Given the description of an element on the screen output the (x, y) to click on. 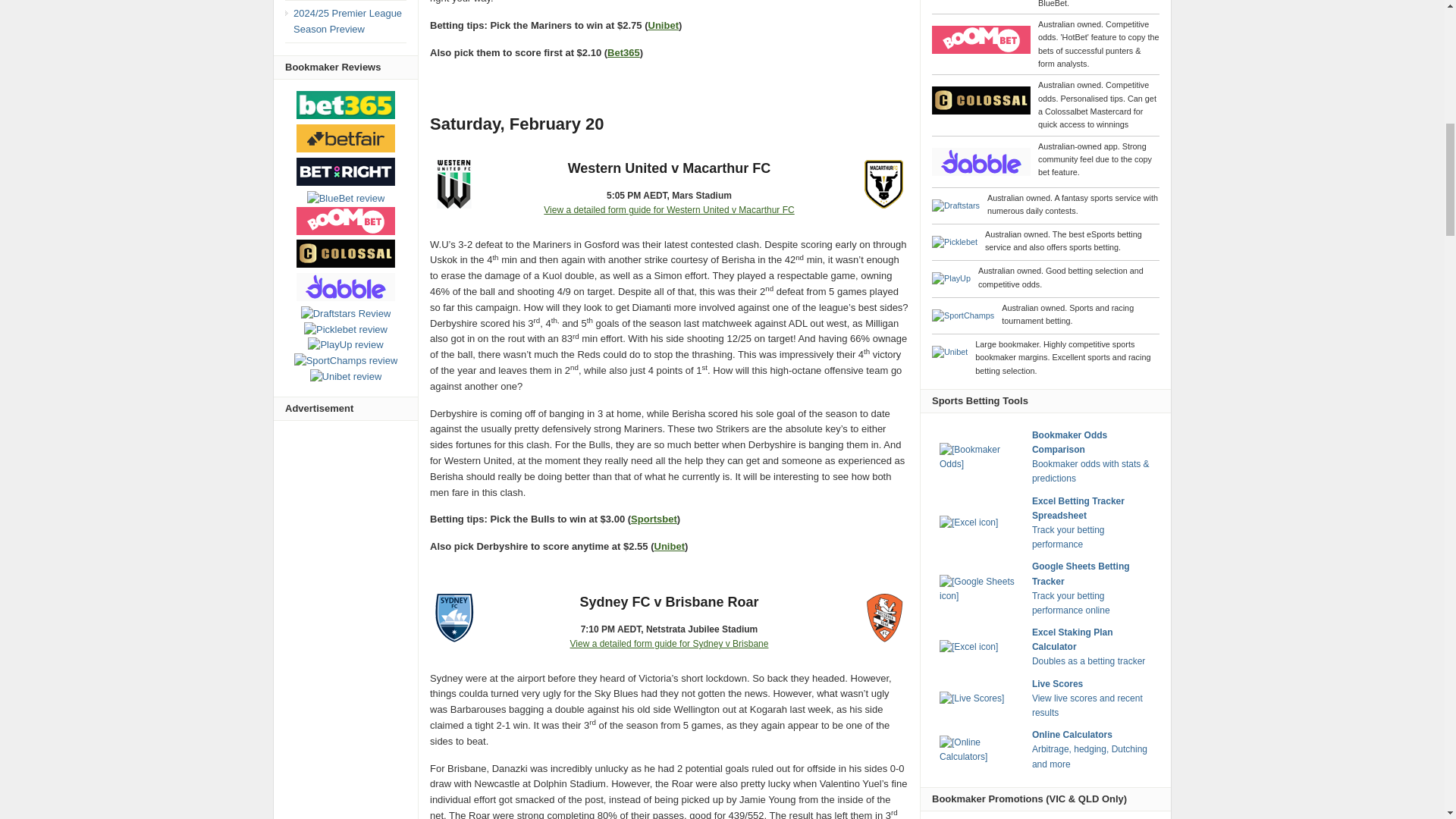
BoomBet review (345, 220)
bet365 review (345, 104)
BlueBet review (346, 198)
Betfair Australia review (345, 138)
Bet Right review (345, 171)
Colossalbet review (345, 253)
